Given the description of an element on the screen output the (x, y) to click on. 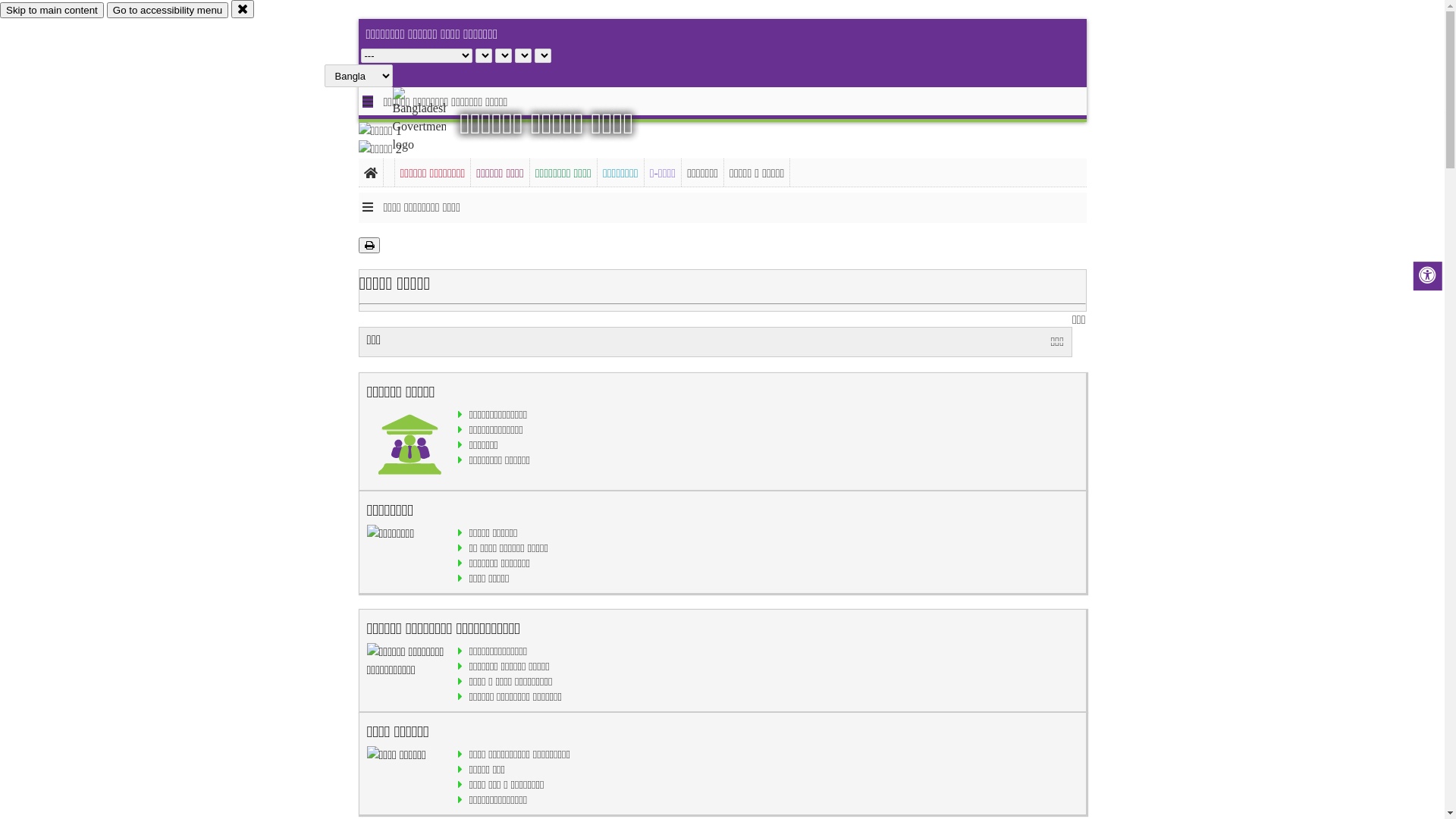
Go to accessibility menu Element type: text (167, 10)

                
             Element type: hover (431, 120)
Skip to main content Element type: text (51, 10)
close Element type: hover (242, 9)
